Given the description of an element on the screen output the (x, y) to click on. 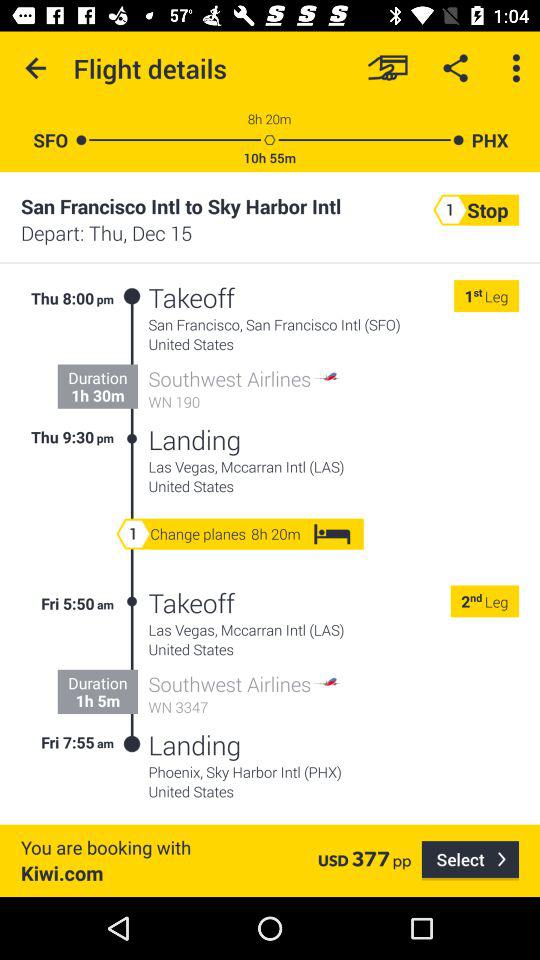
tap the icon next to 1 icon (477, 295)
